Given the description of an element on the screen output the (x, y) to click on. 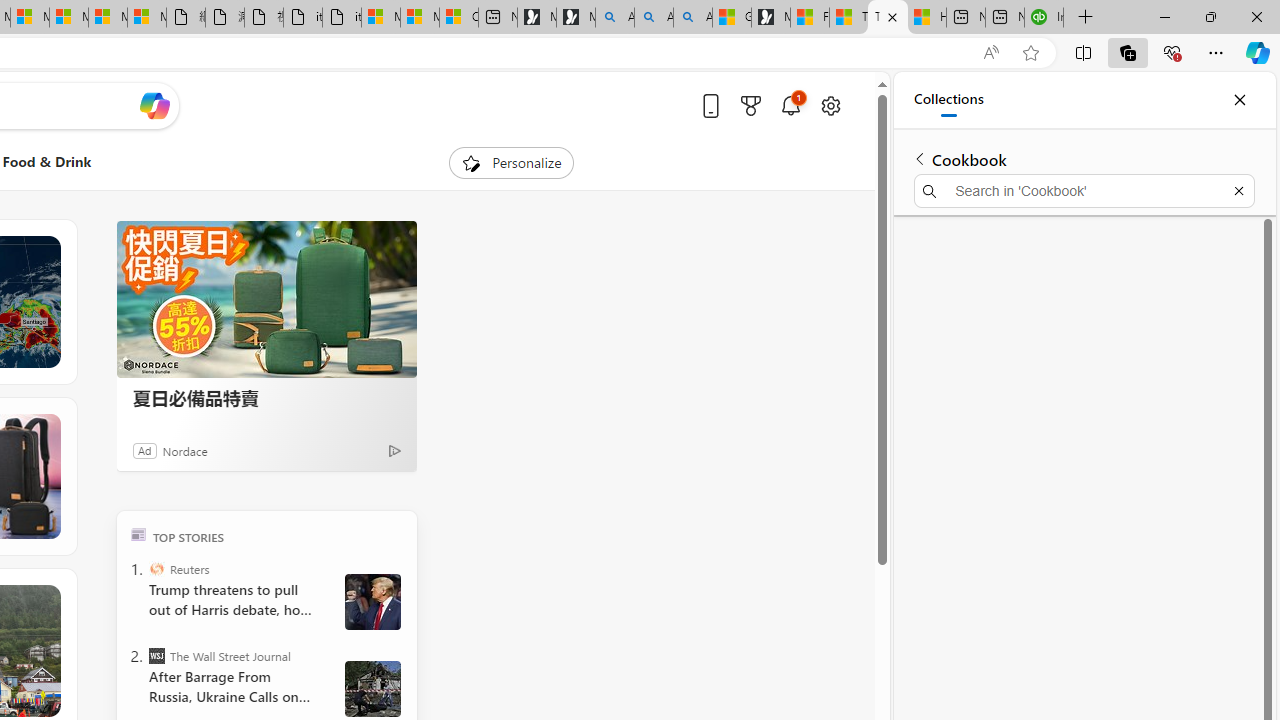
Intuit QuickBooks Online - Quickbooks (1044, 17)
Search in 'Cookbook' (1084, 190)
How to Use a TV as a Computer Monitor (926, 17)
TOP (138, 534)
